Given the description of an element on the screen output the (x, y) to click on. 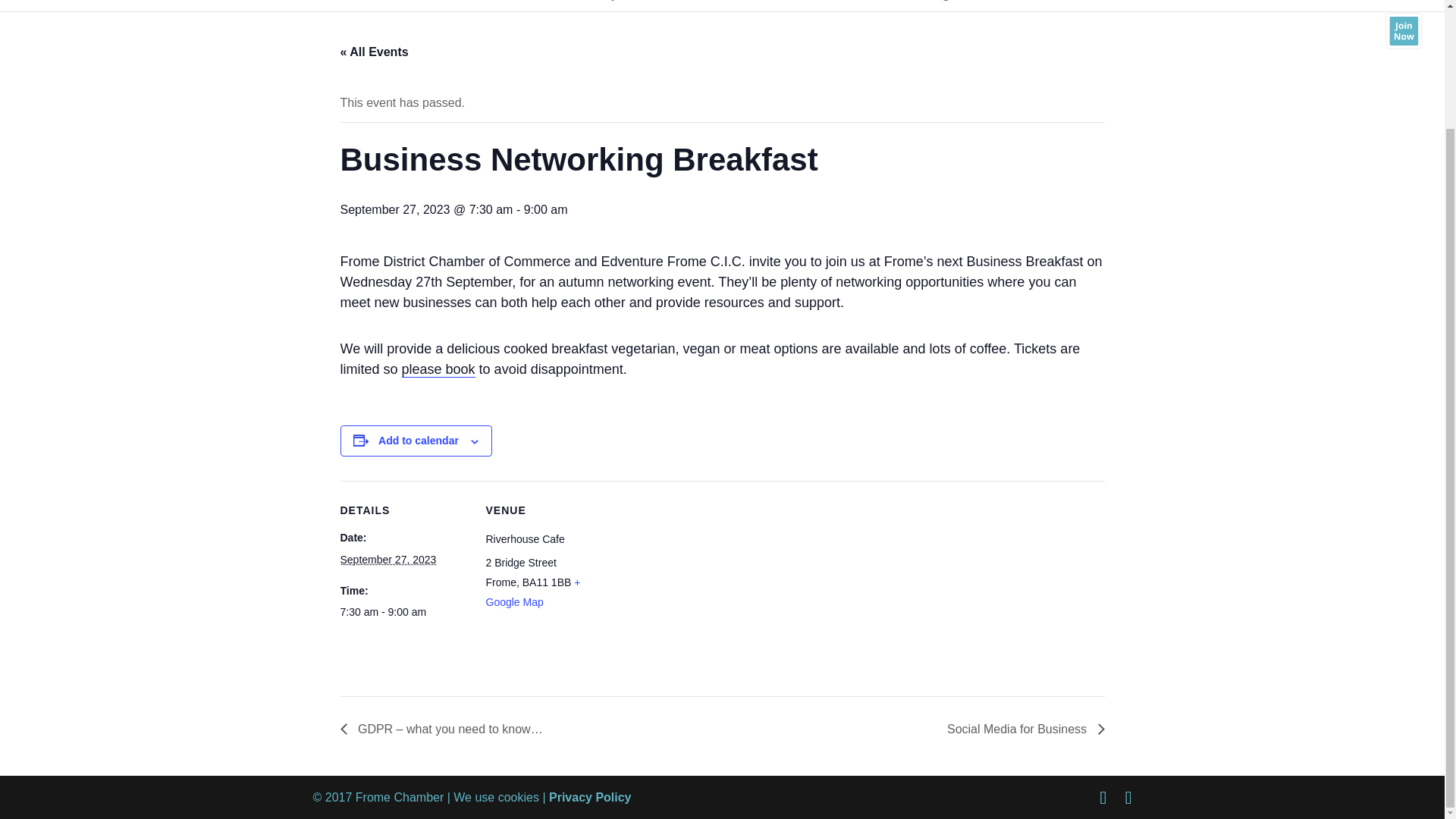
Add to calendar (418, 440)
Click to view a Google Map (531, 592)
Members (692, 9)
Chamber Blog (903, 9)
Privacy Policy (589, 797)
Who We Are (788, 9)
Home (404, 9)
Membership (586, 9)
2023-09-27 (387, 559)
Social Media for Business (1022, 728)
please book (438, 369)
Get in touch (1016, 9)
Events (481, 9)
2023-09-27 (403, 611)
